Given the description of an element on the screen output the (x, y) to click on. 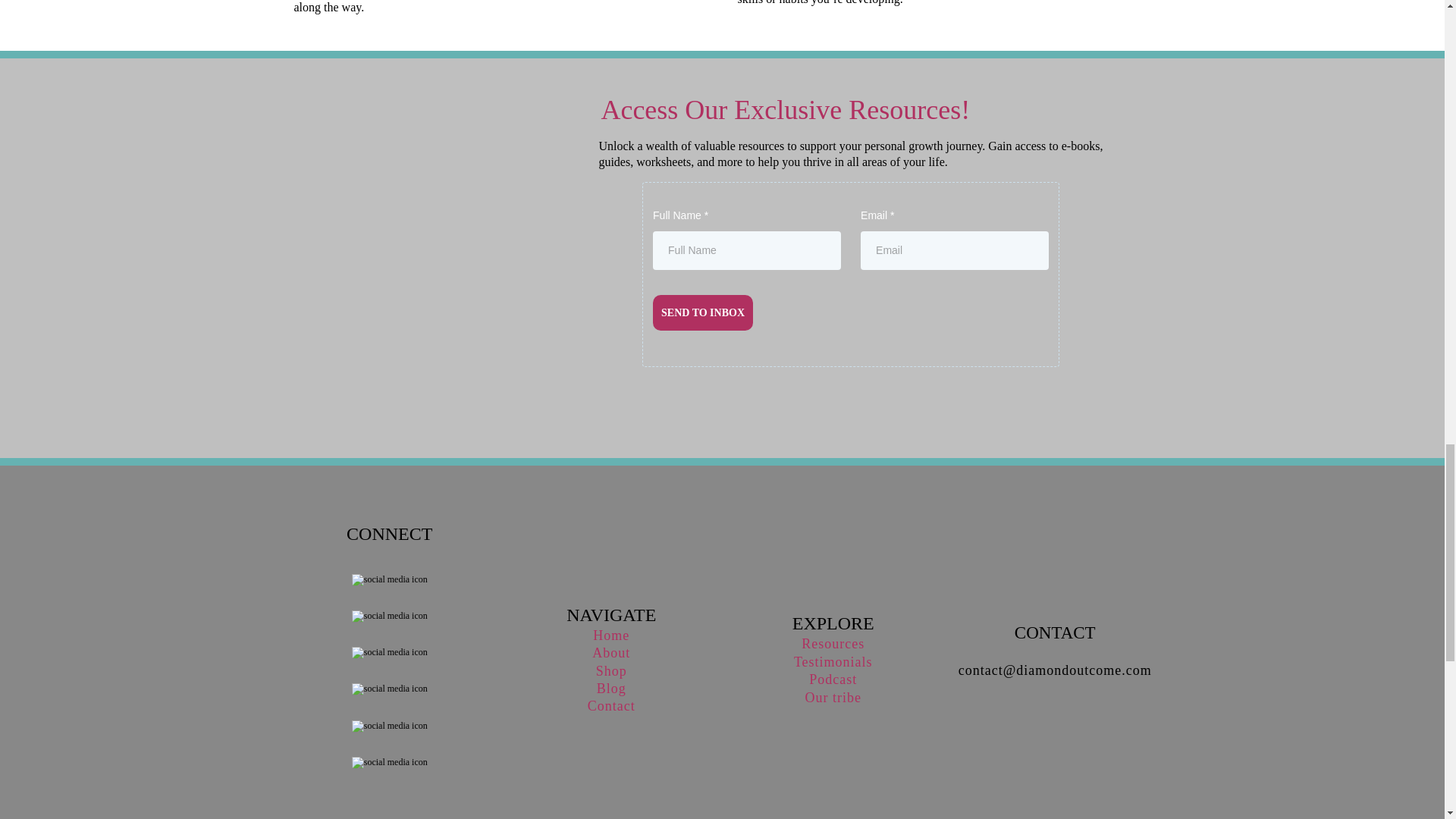
Contact (611, 705)
Blog (611, 688)
Shop (611, 670)
Our tribe (833, 697)
Resources (833, 643)
SEND TO INBOX (702, 312)
About (611, 652)
Podcast (833, 679)
Home (610, 635)
Testimonials (832, 661)
